Given the description of an element on the screen output the (x, y) to click on. 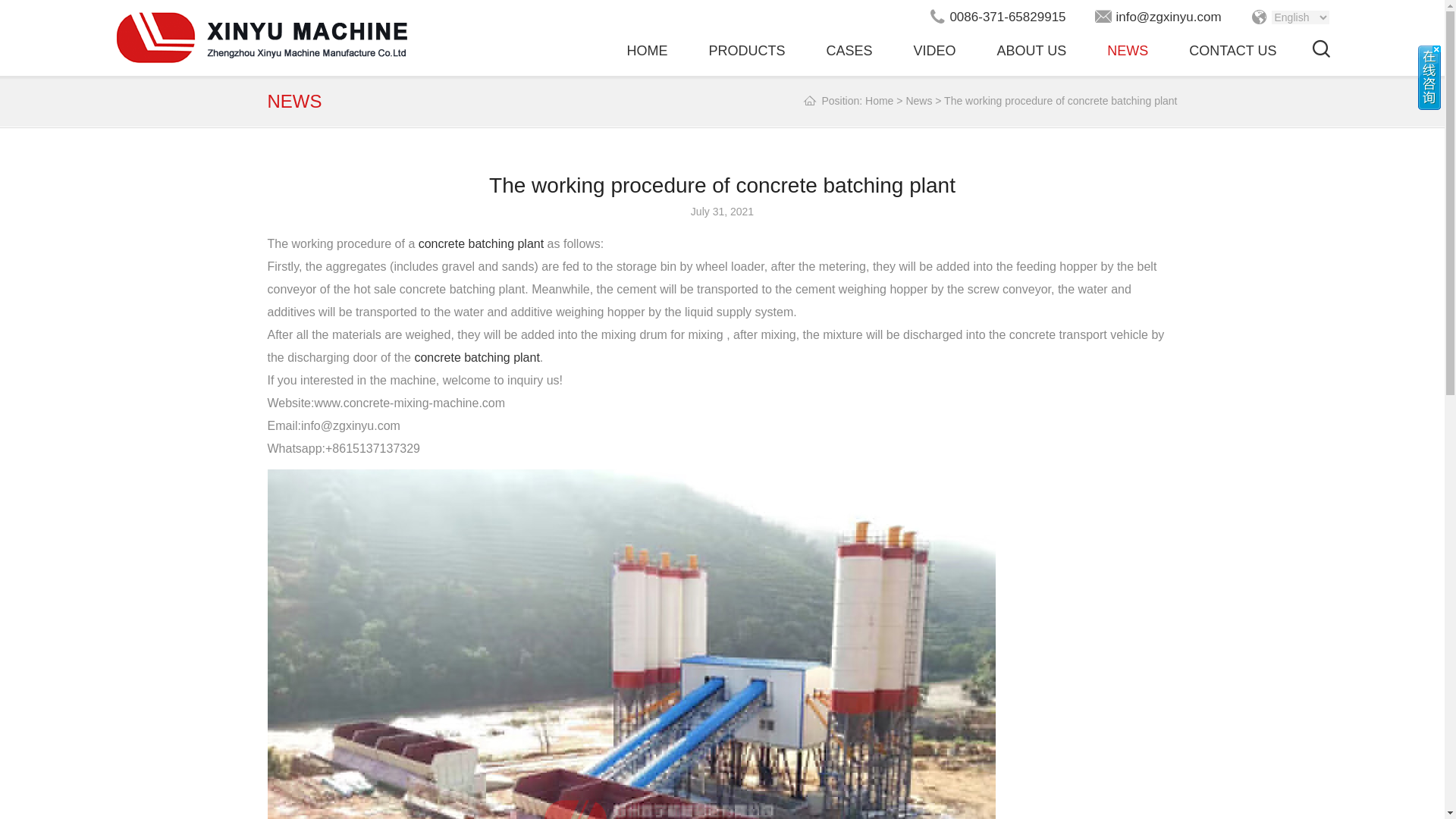
VIDEO (933, 51)
Home (878, 101)
Products (746, 51)
ABOUT US (1030, 51)
The working procedure of concrete batching plant (1059, 101)
News (918, 101)
About us (1030, 51)
NEWS (1127, 51)
concrete batching plant (481, 243)
HOME (646, 51)
